Given the description of an element on the screen output the (x, y) to click on. 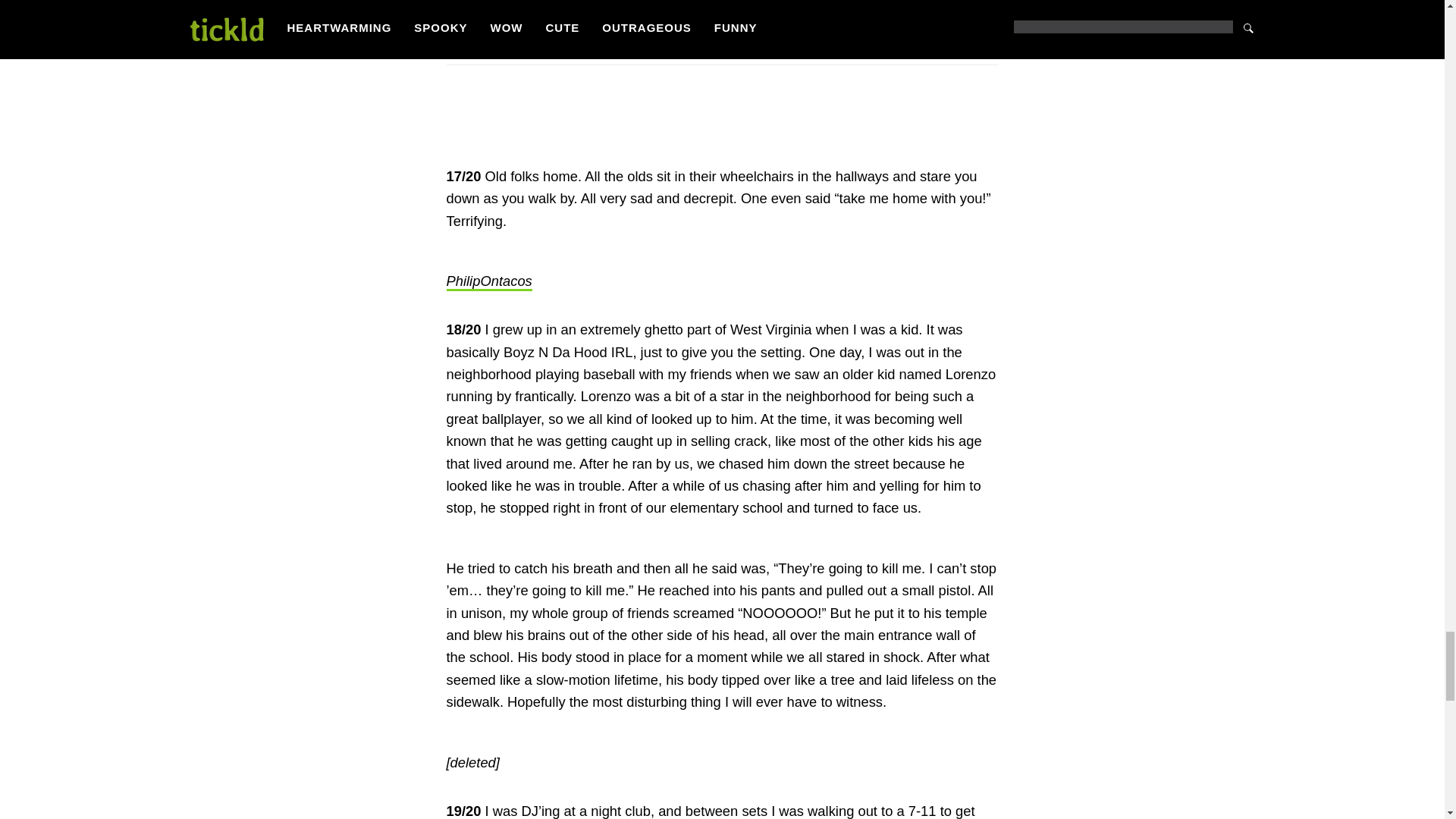
MileHighBarfly (490, 25)
PhilipOntacos (488, 281)
